Given the description of an element on the screen output the (x, y) to click on. 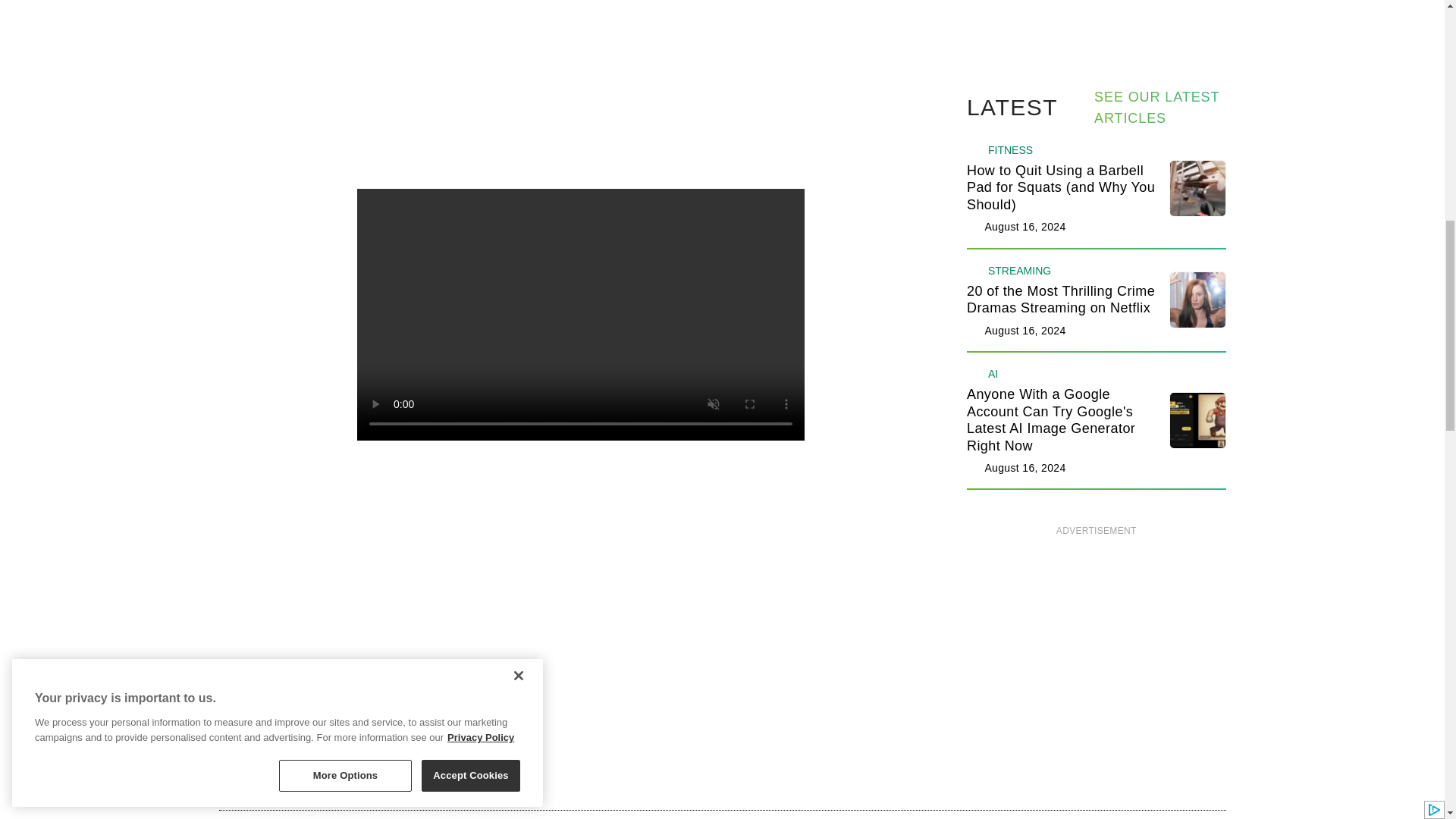
3rd party ad content (1095, 642)
3rd party ad content (580, 81)
3rd party ad content (1095, 6)
